Given the description of an element on the screen output the (x, y) to click on. 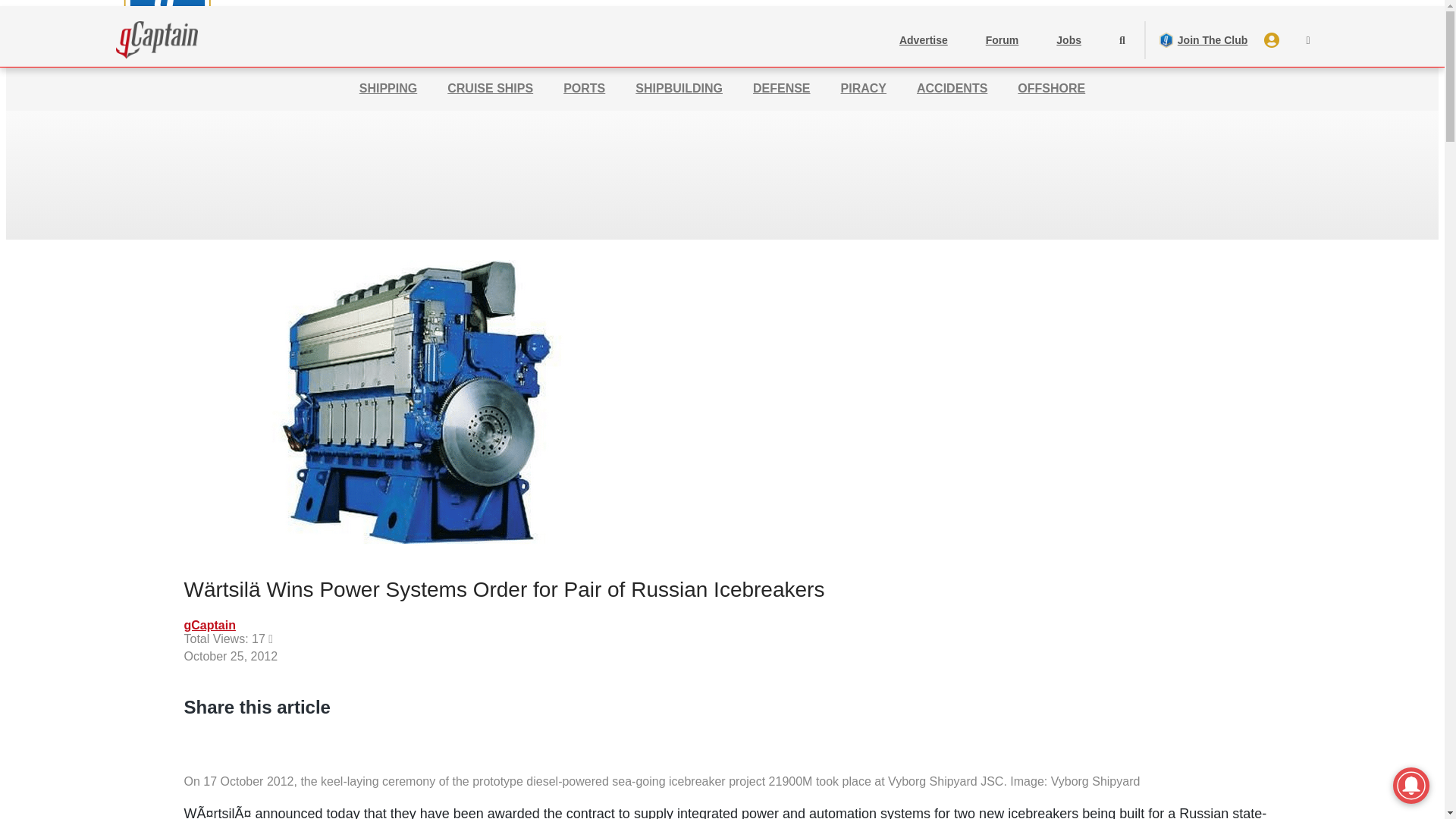
SHIPPING (387, 88)
Forum (1002, 39)
ACCIDENTS (952, 88)
Jobs (1069, 39)
Advertise (923, 39)
DEFENSE (781, 88)
SHIPBUILDING (678, 88)
gCaptain (208, 627)
OFFSHORE (1050, 88)
3rd party ad content (722, 160)
PIRACY (863, 88)
PORTS (584, 88)
Join The Club (1202, 39)
CRUISE SHIPS (489, 88)
